Given the description of an element on the screen output the (x, y) to click on. 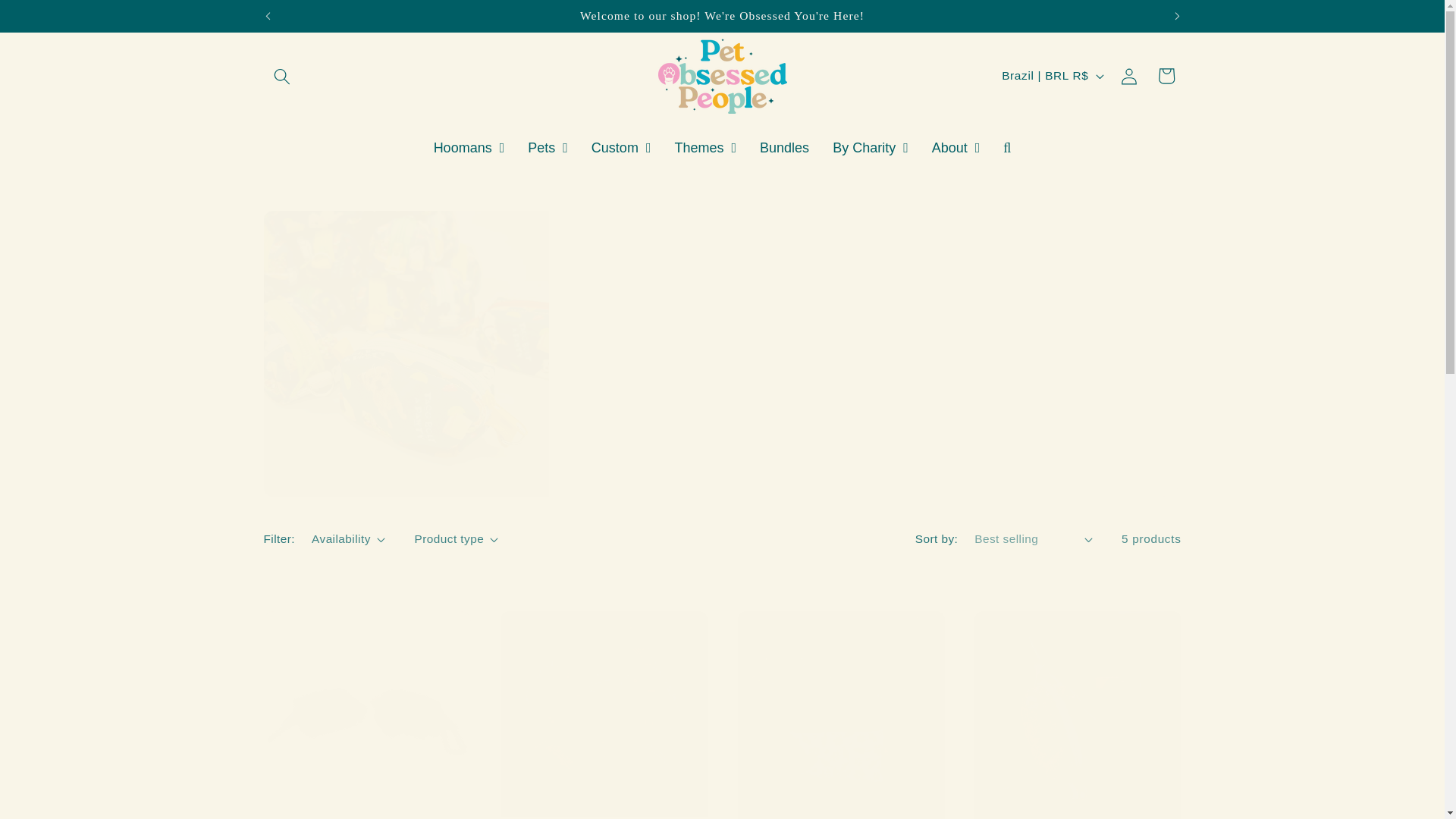
Skip to content (50, 19)
